Given the description of an element on the screen output the (x, y) to click on. 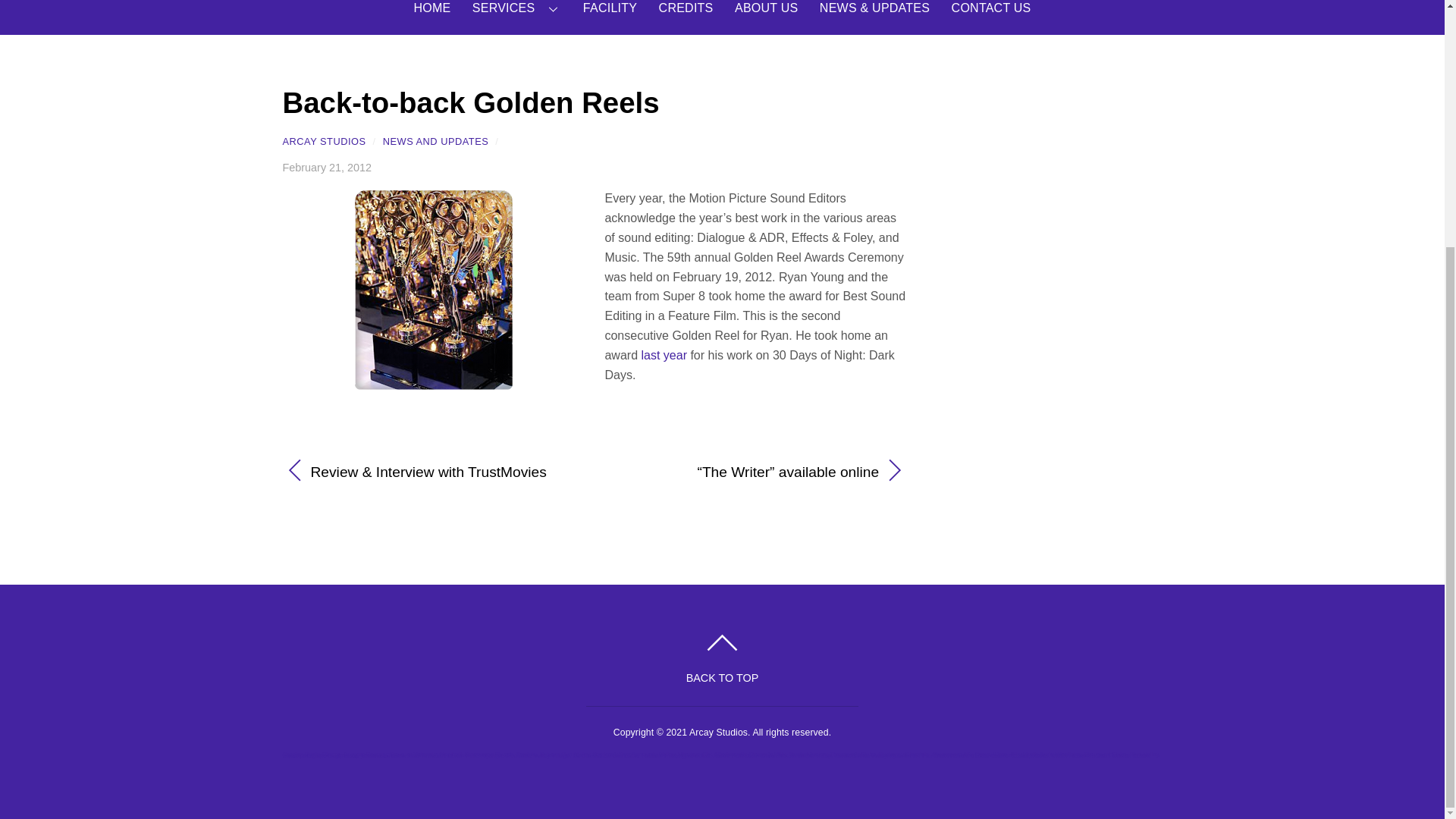
ABOUT US (766, 17)
CONTACT US (991, 17)
NEWS AND UPDATES (435, 141)
CREDITS (686, 17)
HOME (431, 17)
SERVICES (516, 17)
ARCAY STUDIOS (323, 141)
Back-to-back Golden Reels (470, 102)
FACILITY (610, 17)
BACK TO TOP (721, 660)
last year (662, 354)
